Given the description of an element on the screen output the (x, y) to click on. 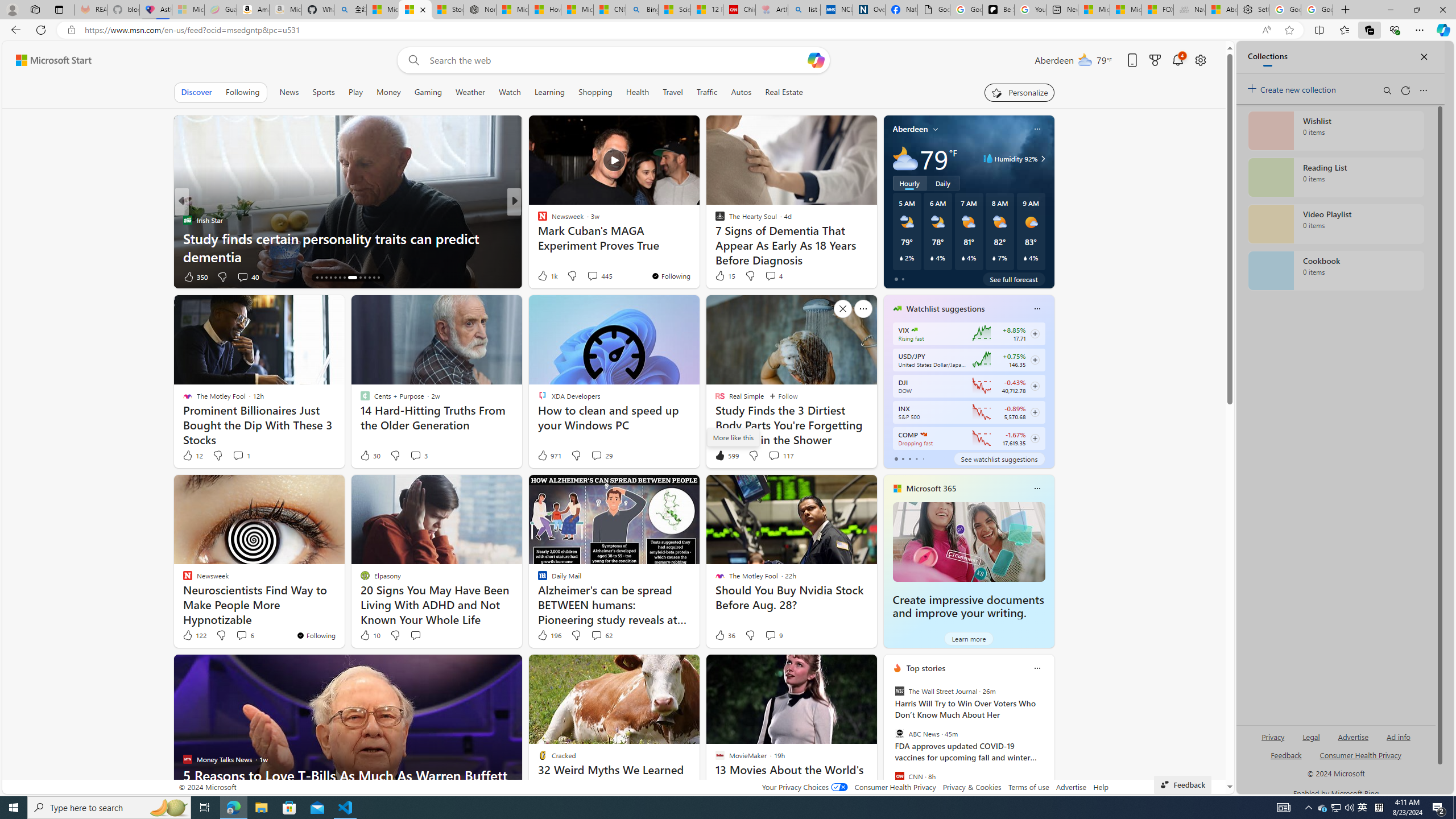
See watchlist suggestions (999, 459)
AutomationID: tab-18 (335, 277)
14 Like (543, 276)
View comments 9 Comment (770, 635)
View comments 9 Comment (773, 634)
350 Like (194, 276)
